Given the description of an element on the screen output the (x, y) to click on. 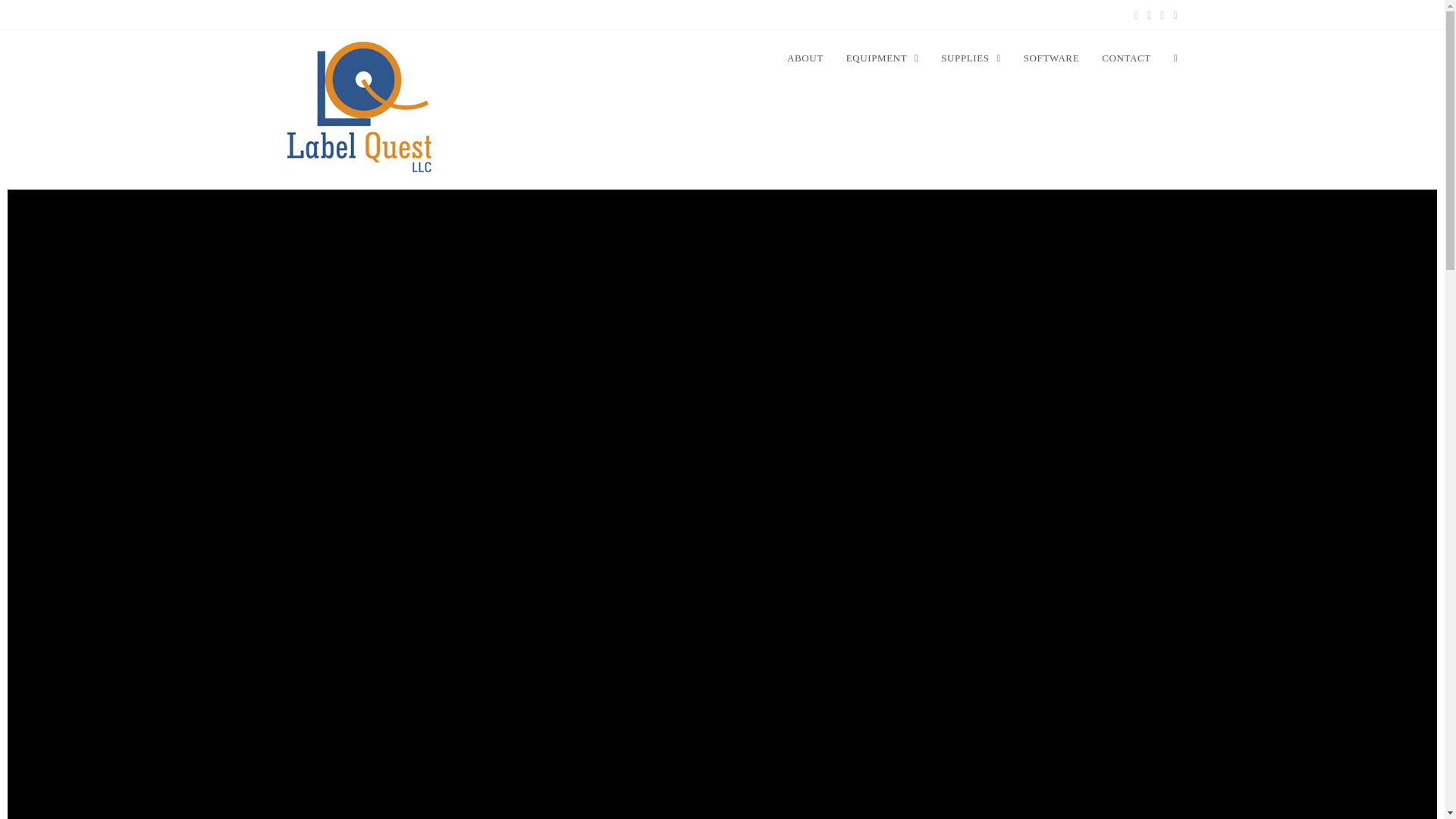
ABOUT (805, 58)
CONTACT (1125, 58)
EQUIPMENT (882, 58)
SOFTWARE (1050, 58)
SUPPLIES (970, 58)
